Given the description of an element on the screen output the (x, y) to click on. 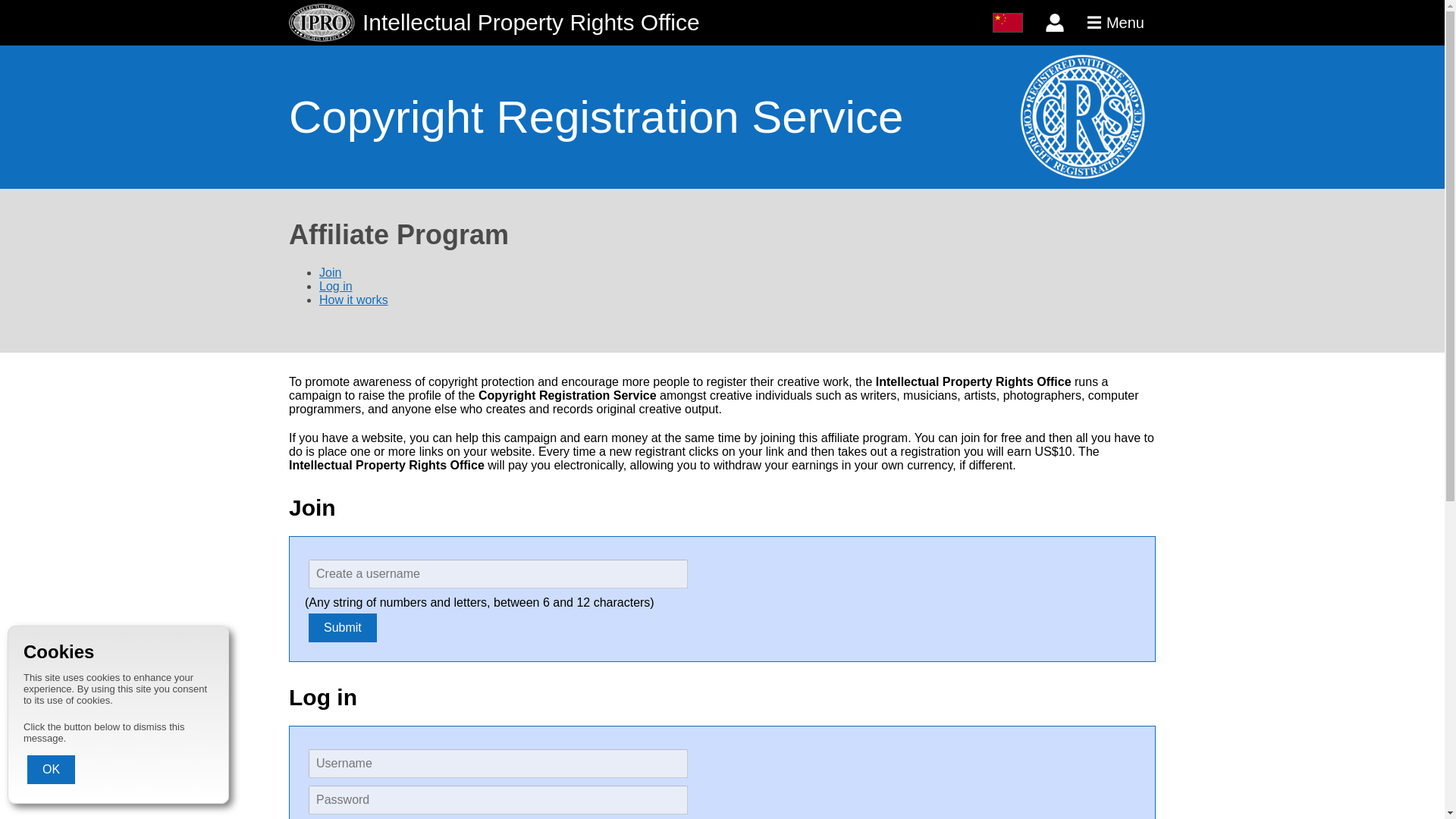
Log in (1054, 22)
How it works (353, 299)
Submit (342, 627)
Change Country (1007, 22)
Intellectual Property Rights Office (321, 22)
Log in (335, 286)
Join (329, 272)
Intellectual Property Rights Office (634, 22)
Intellectual Property Rights Office (634, 22)
Menu (1115, 22)
Submit (342, 627)
